Given the description of an element on the screen output the (x, y) to click on. 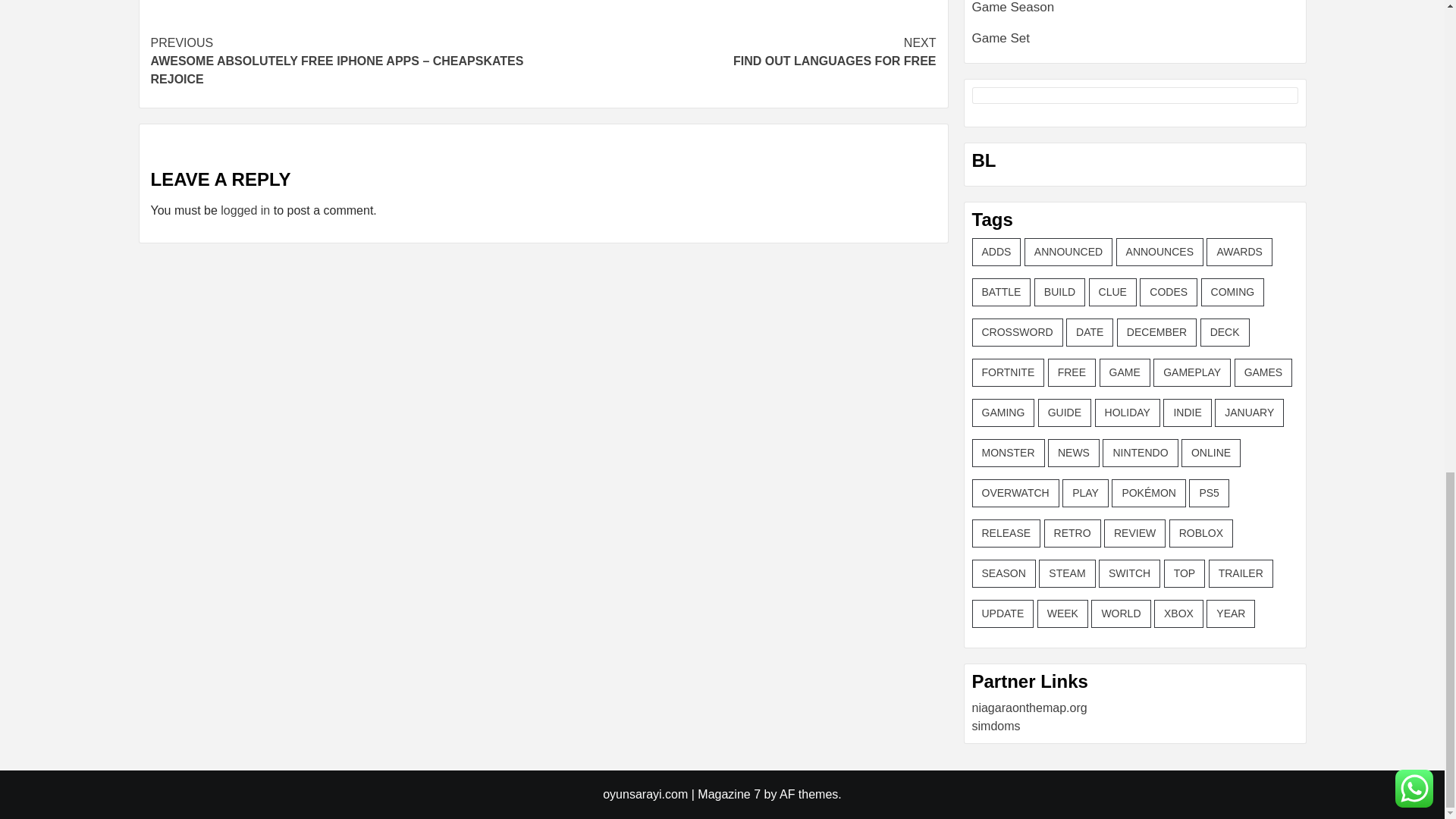
logged in (245, 210)
